Given the description of an element on the screen output the (x, y) to click on. 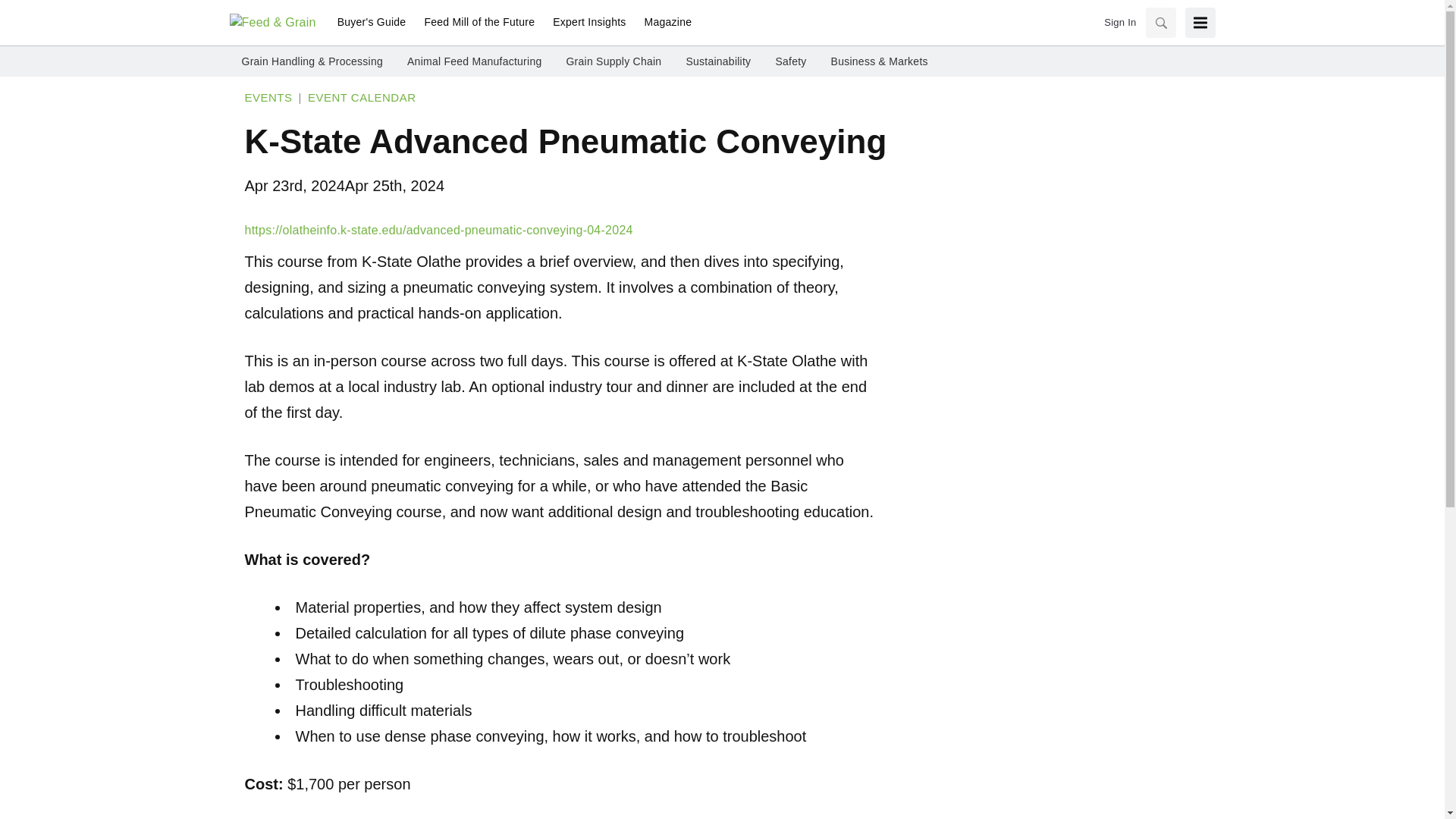
Safety (790, 61)
Event Calendar (361, 97)
Magazine (663, 22)
Sign In (1119, 22)
Expert Insights (588, 22)
Buyer's Guide (371, 22)
Feed Mill of the Future (478, 22)
Events (268, 97)
Sustainability (718, 61)
Animal Feed Manufacturing (474, 61)
Grain Supply Chain (613, 61)
